Given the description of an element on the screen output the (x, y) to click on. 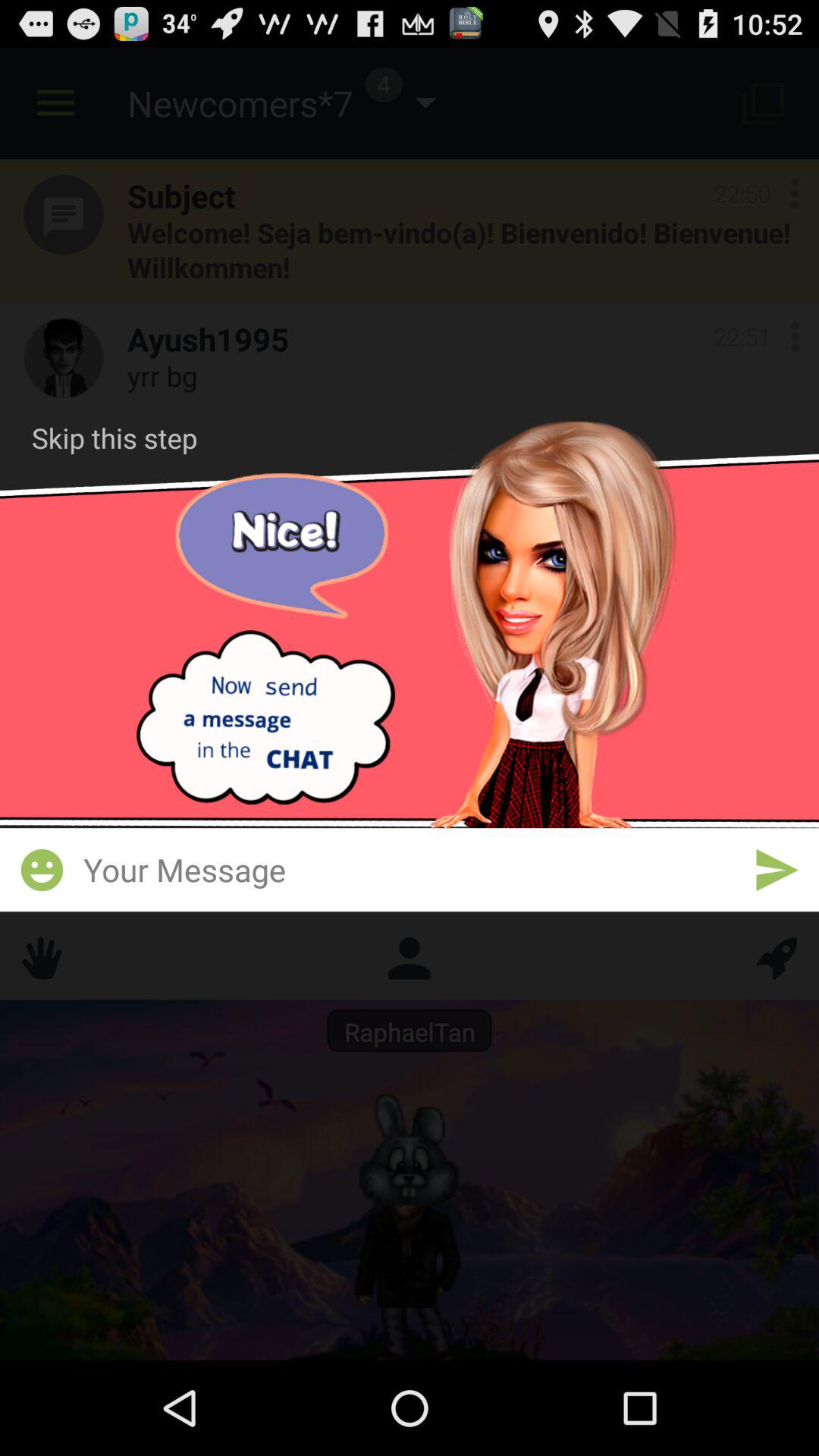
send option (777, 869)
